Given the description of an element on the screen output the (x, y) to click on. 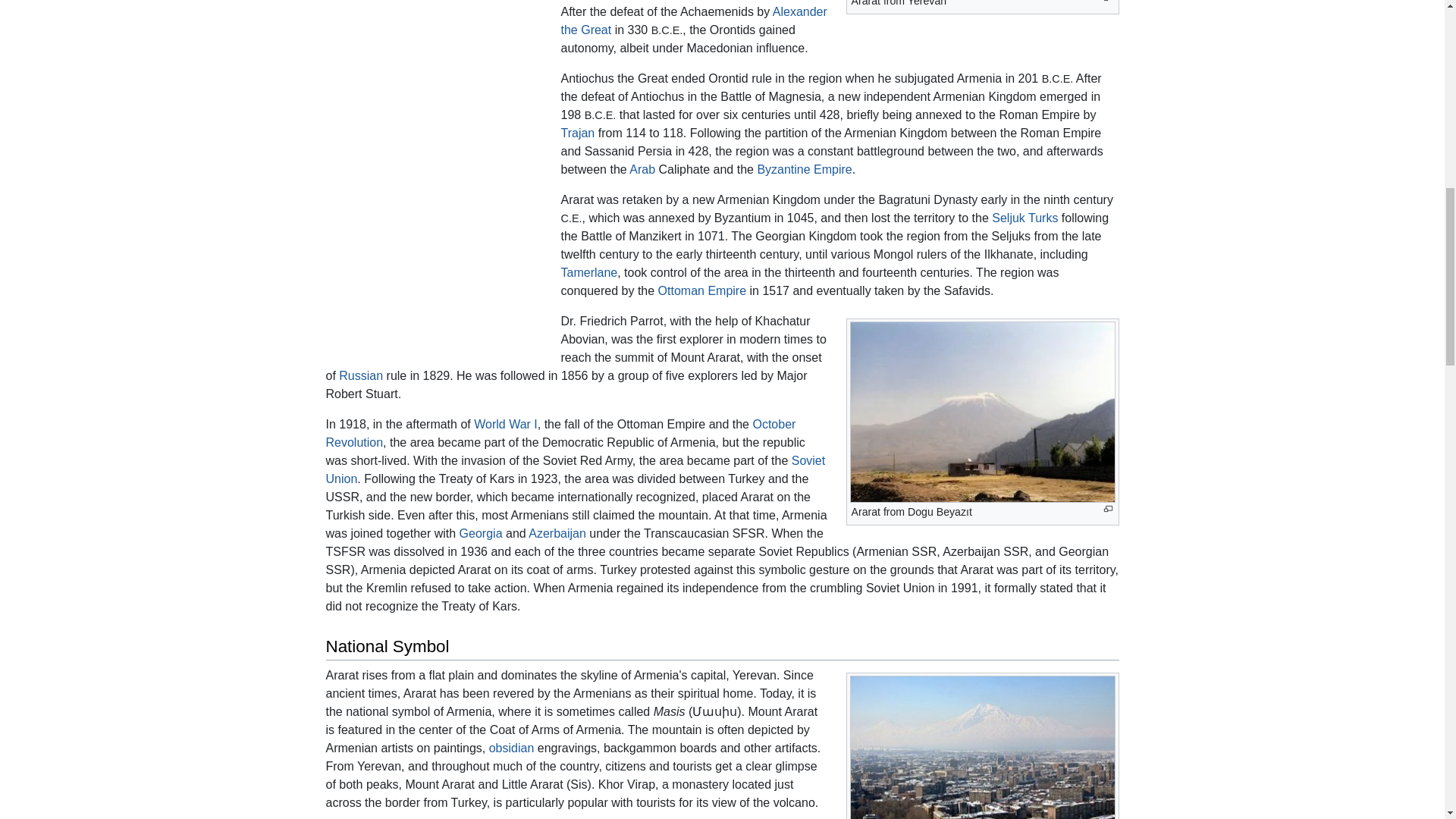
Byzantine Empire (804, 169)
Alexander the Great (693, 20)
Arab (641, 169)
Trajan (577, 132)
Trajan (577, 132)
Alexander the Great (693, 20)
Seljuk Turks (1024, 217)
Tamerlane (588, 272)
Arab (641, 169)
Byzantine Empire (804, 169)
